Given the description of an element on the screen output the (x, y) to click on. 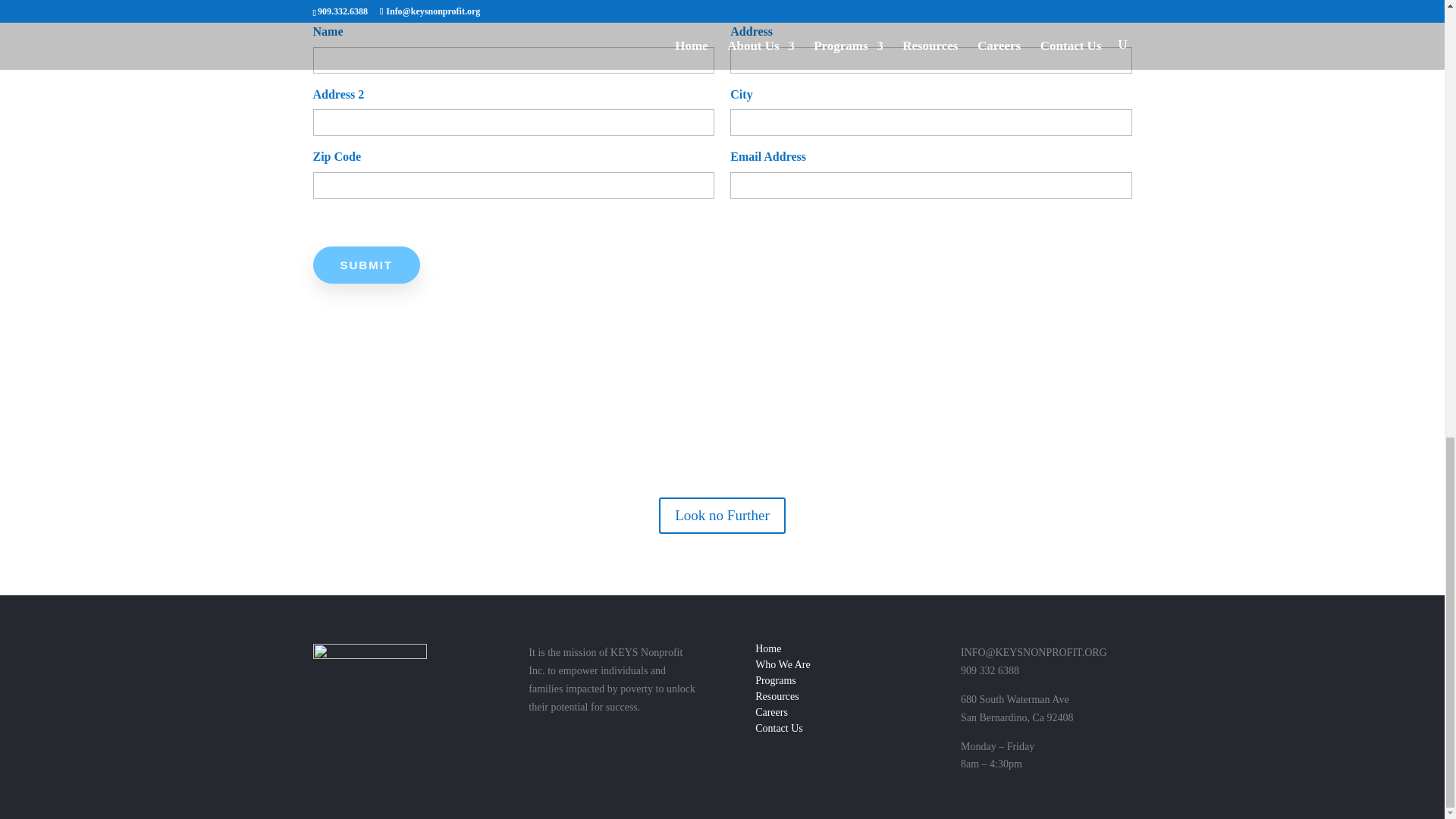
Submit (366, 264)
Resources (777, 696)
Contact Us (779, 727)
Who We Are (782, 664)
Careers (771, 712)
Home (767, 648)
Look no Further (722, 515)
Programs (775, 680)
